Given the description of an element on the screen output the (x, y) to click on. 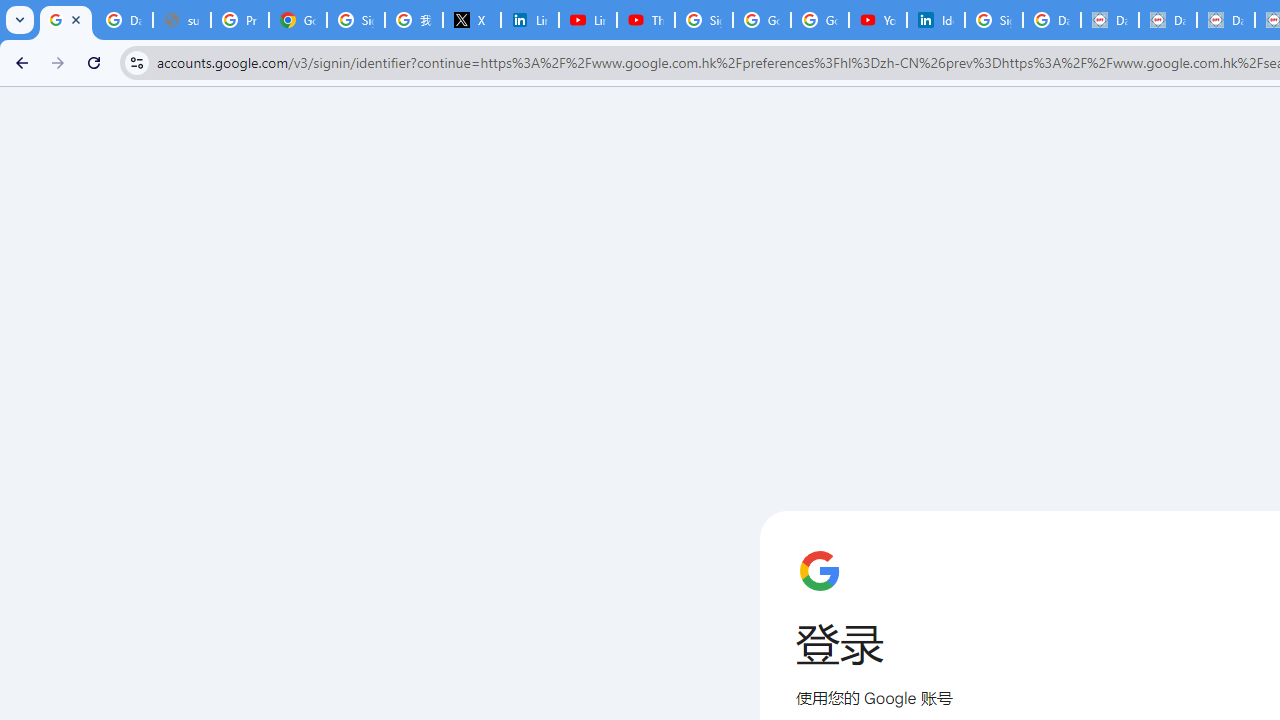
support.google.com - Network error (181, 20)
Privacy Help Center - Policies Help (239, 20)
Sign in - Google Accounts (703, 20)
Data Privacy Framework (1225, 20)
Data Privacy Framework (1110, 20)
